Given the description of an element on the screen output the (x, y) to click on. 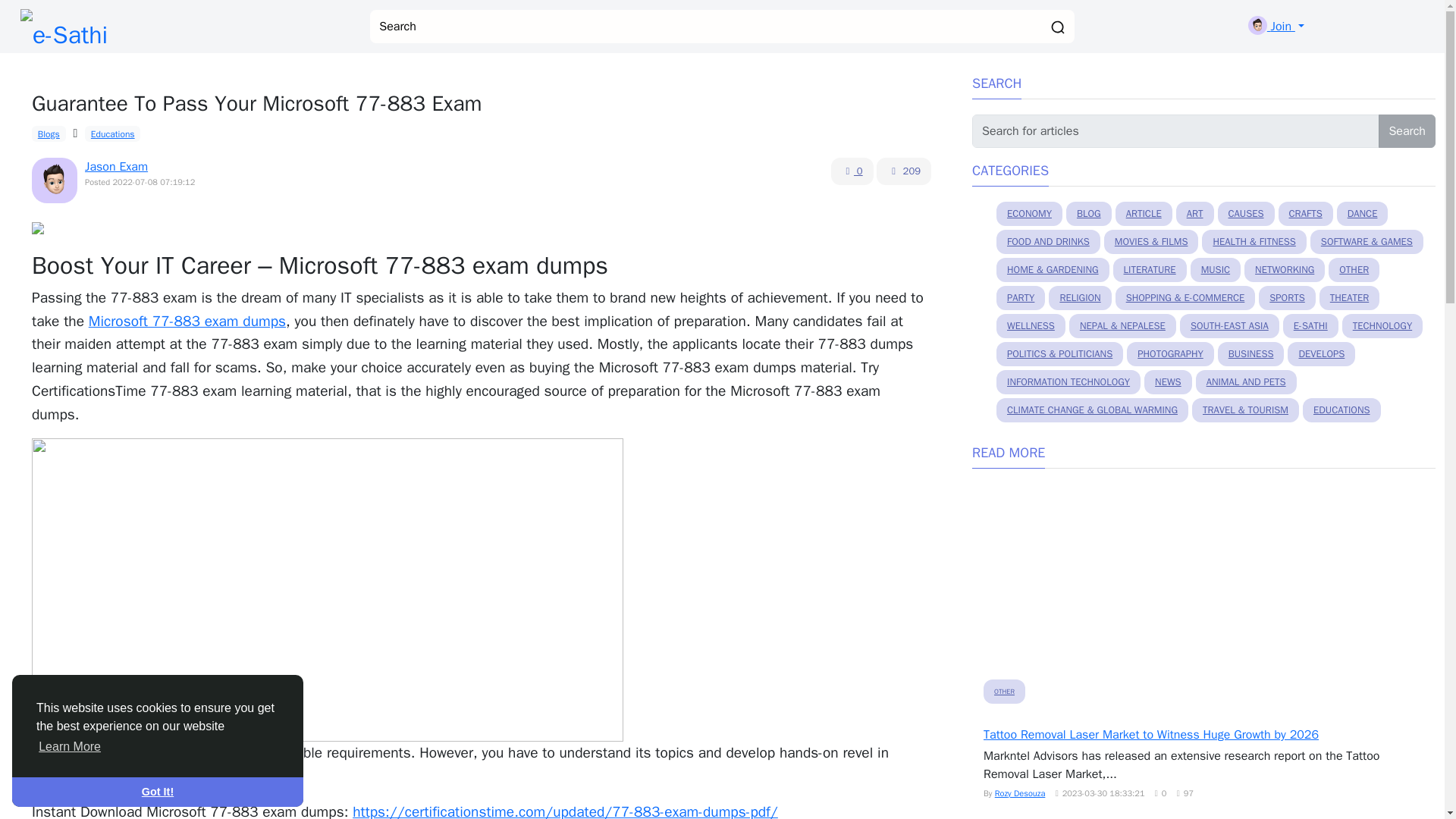
Join (1276, 26)
0 (852, 171)
CAUSES (1246, 213)
e-Sathi  (63, 27)
Blogs (48, 133)
Learn More (69, 746)
ECONOMY (1028, 213)
Got It! (156, 791)
BLOG (1088, 213)
ARTICLE (1143, 213)
DANCE (1362, 213)
FOOD AND DRINKS (1047, 241)
Microsoft 77-883 exam dumps (186, 321)
CRAFTS (1305, 213)
Educations (111, 133)
